Given the description of an element on the screen output the (x, y) to click on. 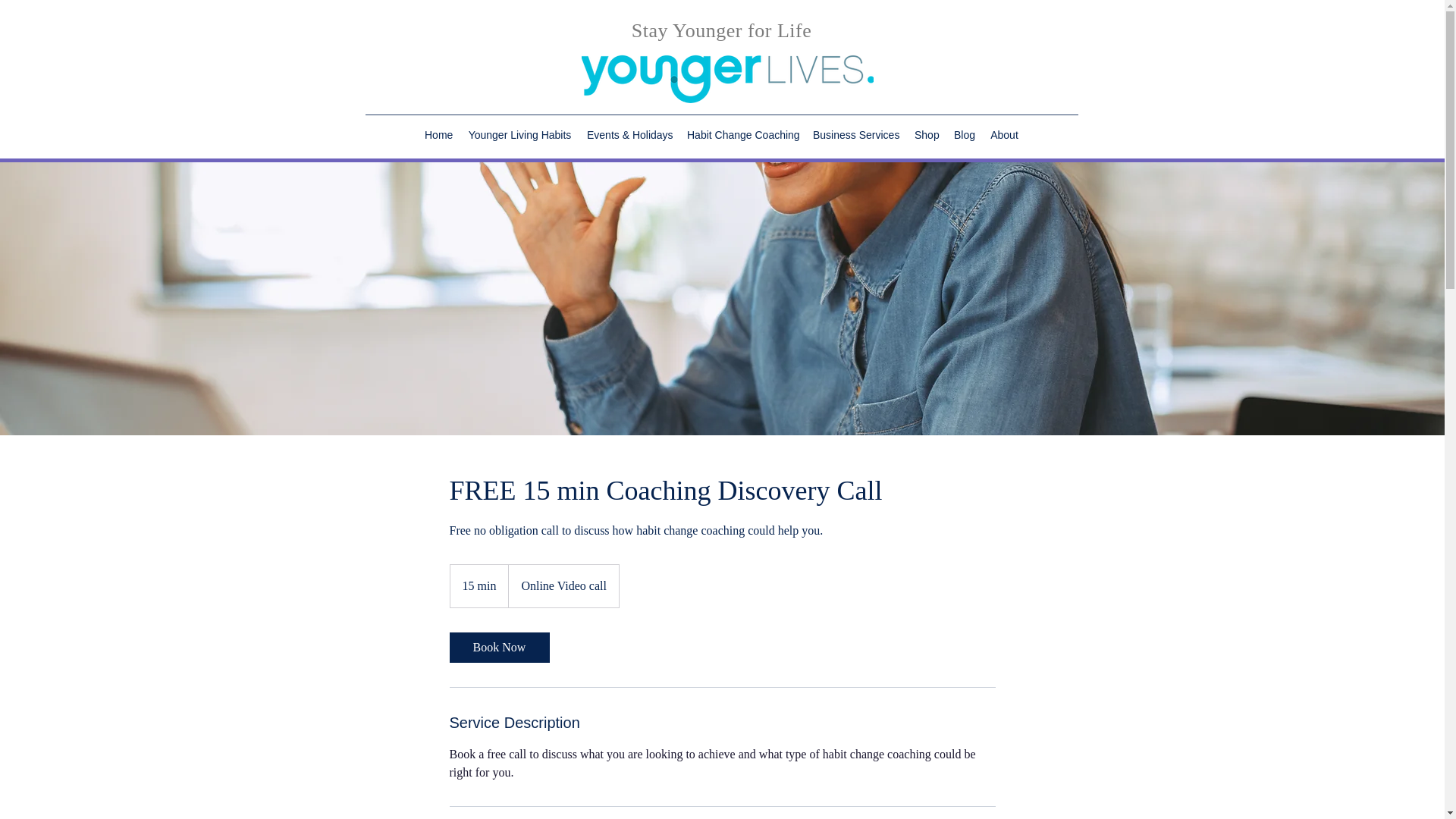
Younger Living Habits (519, 135)
Business Services (856, 135)
About (1004, 135)
Home (438, 135)
Book Now (498, 647)
Shop (926, 135)
Habit Change Coaching (742, 135)
Blog (964, 135)
